Given the description of an element on the screen output the (x, y) to click on. 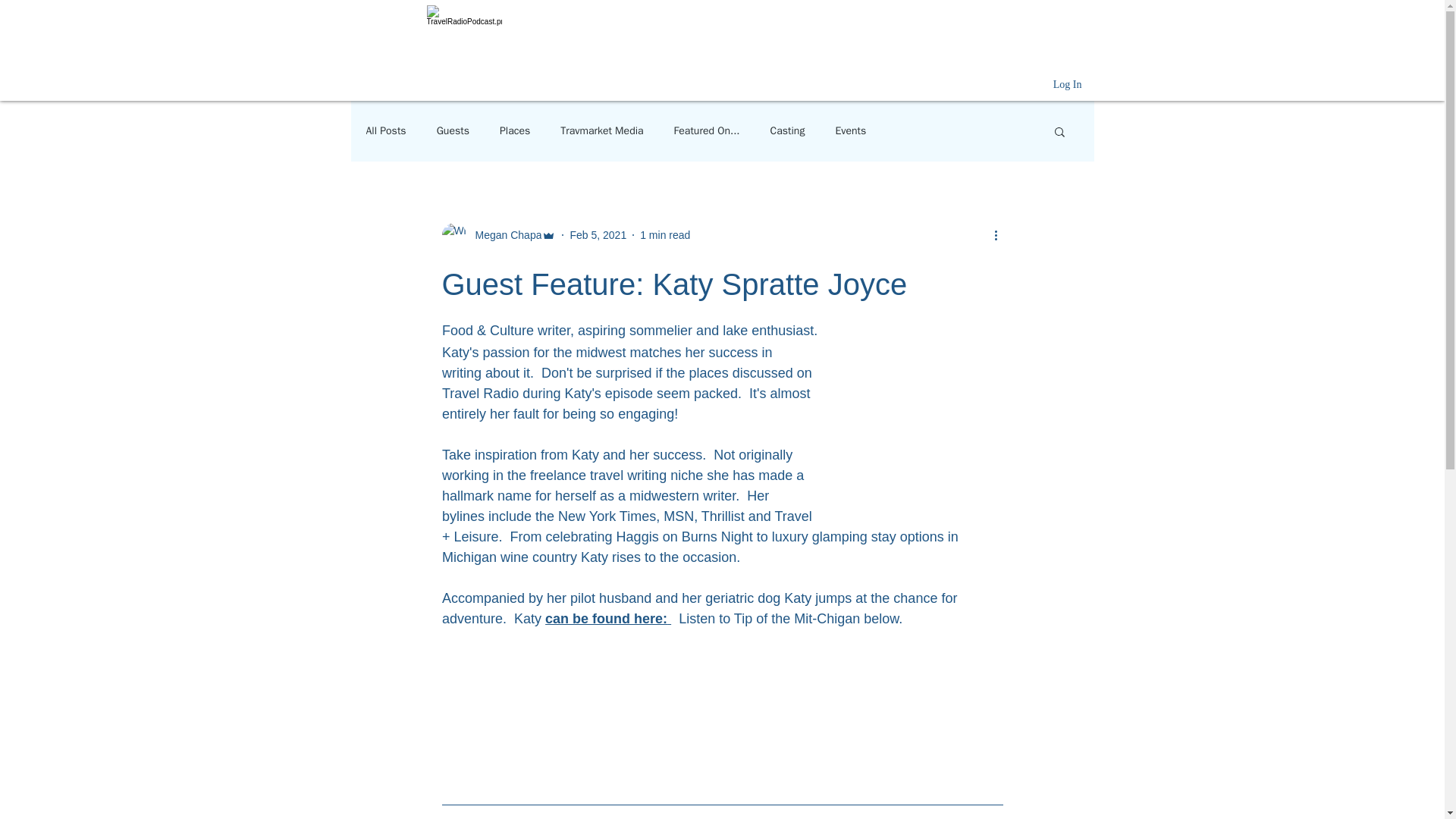
Featured On... (706, 131)
Log In (1067, 84)
Guests (452, 131)
Events (850, 131)
Megan Chapa (503, 235)
remote content (923, 430)
1 min read (665, 234)
Feb 5, 2021 (597, 234)
Casting (787, 131)
can be found here: (605, 618)
Places (514, 131)
Travmarket Media (601, 131)
Megan Chapa (498, 234)
All Posts (385, 131)
